Given the description of an element on the screen output the (x, y) to click on. 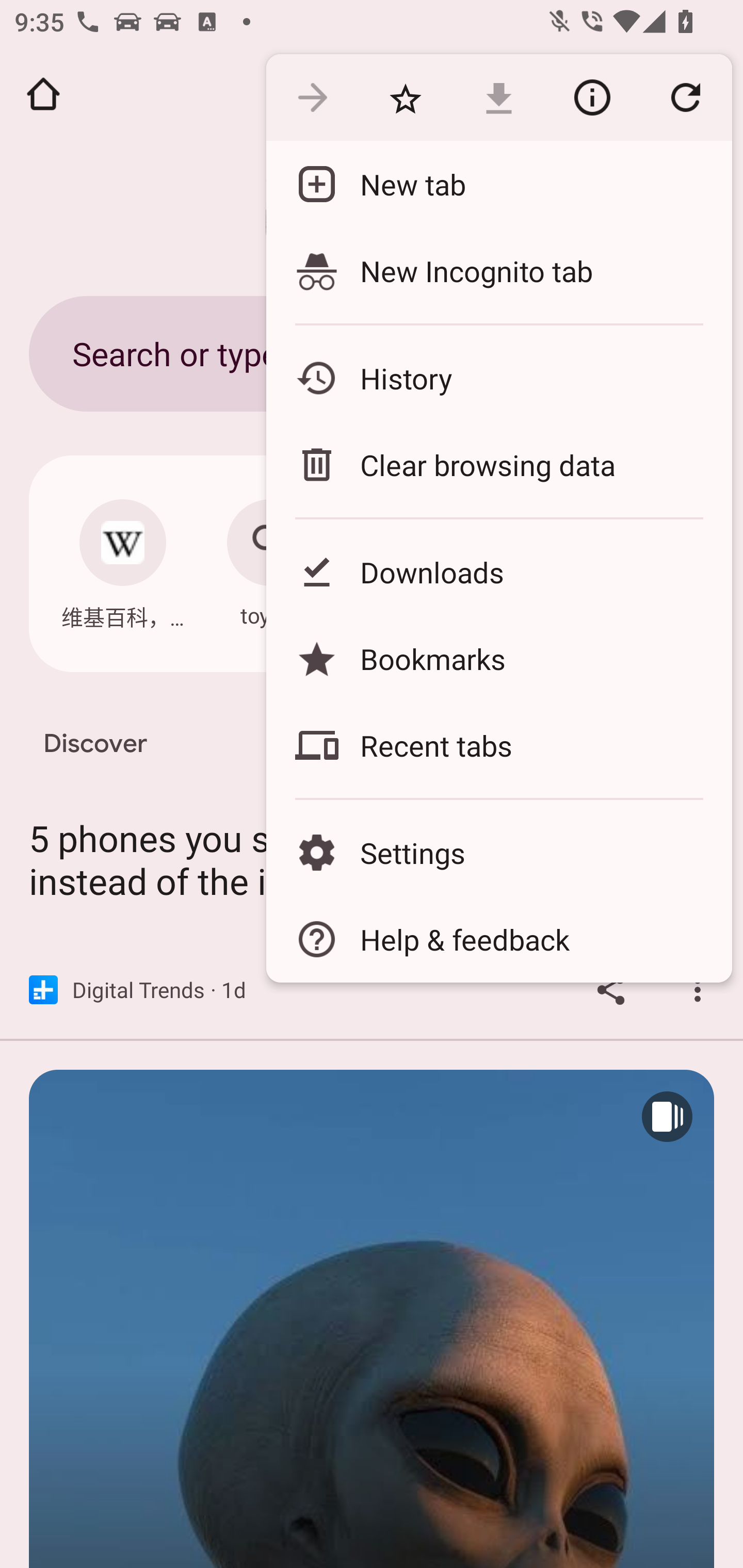
Forward (311, 97)
Bookmark (404, 97)
Download (498, 97)
Page info (591, 97)
Refresh (684, 97)
New tab (498, 184)
New Incognito tab (498, 270)
History (498, 377)
Clear browsing data (498, 464)
Downloads (498, 571)
Bookmarks (498, 658)
Recent tabs (498, 745)
Settings (498, 852)
Help & feedback (498, 939)
